Given the description of an element on the screen output the (x, y) to click on. 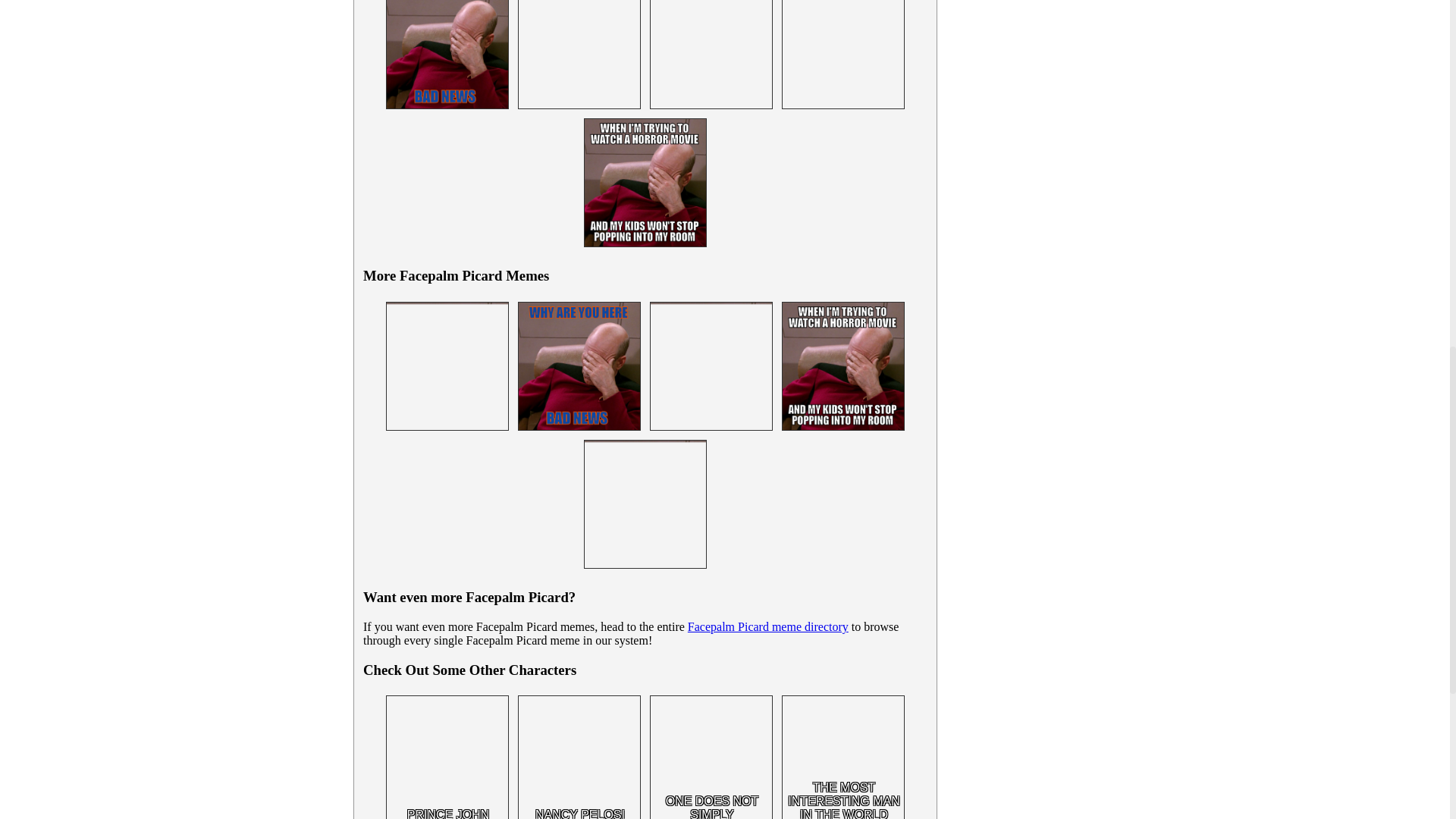
Facepalm Picard meme directory (767, 626)
